Given the description of an element on the screen output the (x, y) to click on. 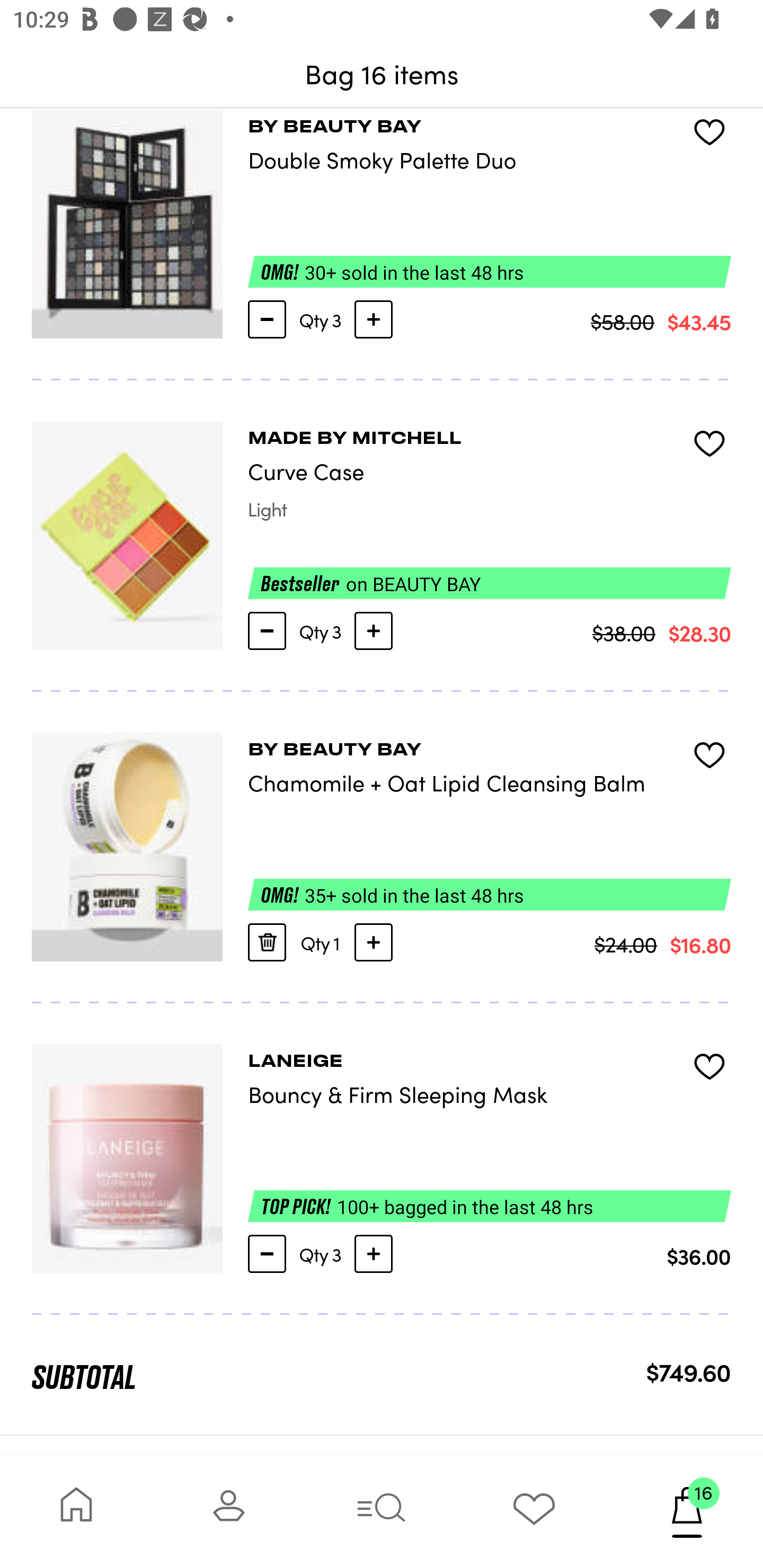
16 (686, 1512)
